Given the description of an element on the screen output the (x, y) to click on. 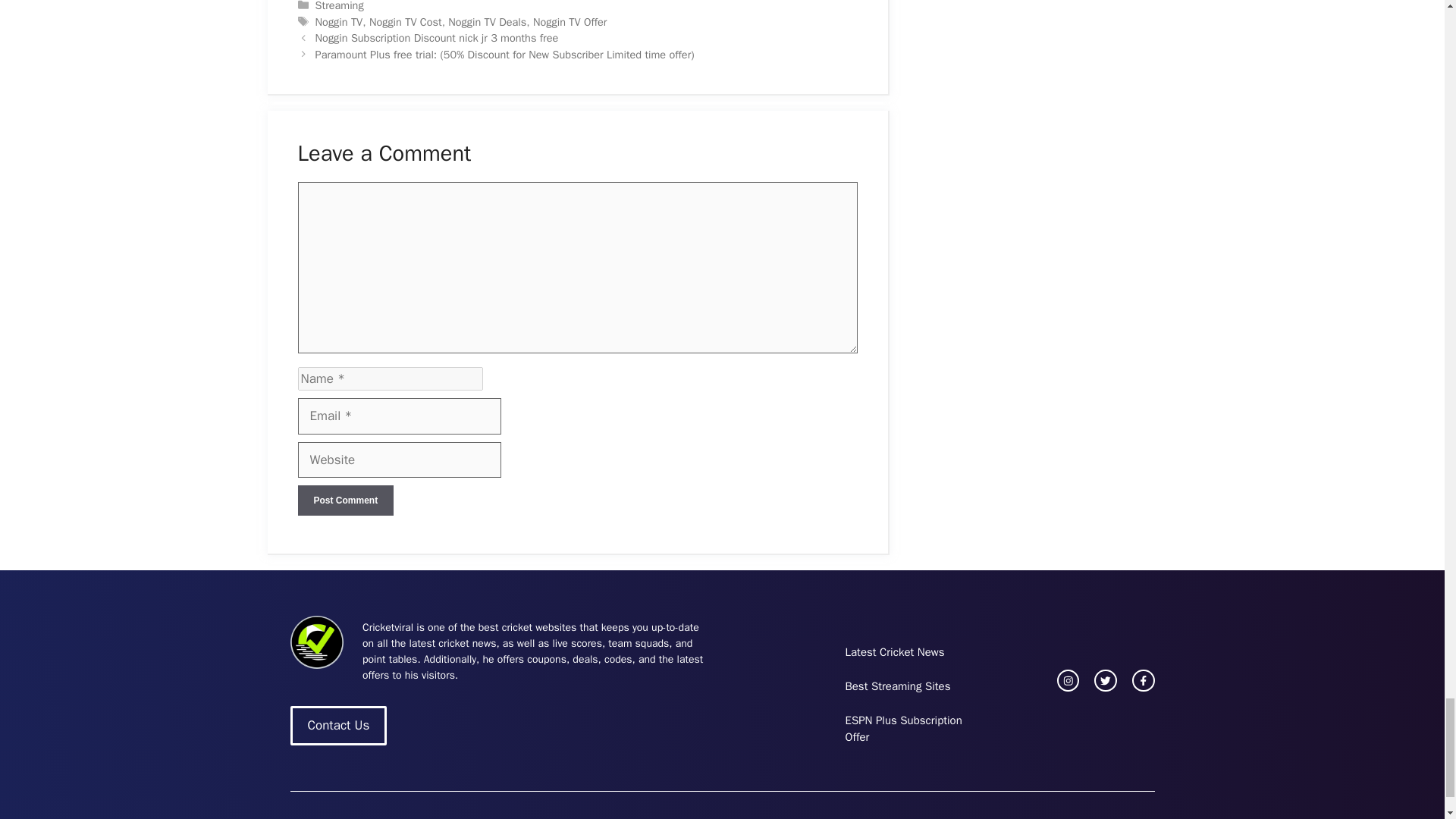
Post Comment (345, 500)
